Given the description of an element on the screen output the (x, y) to click on. 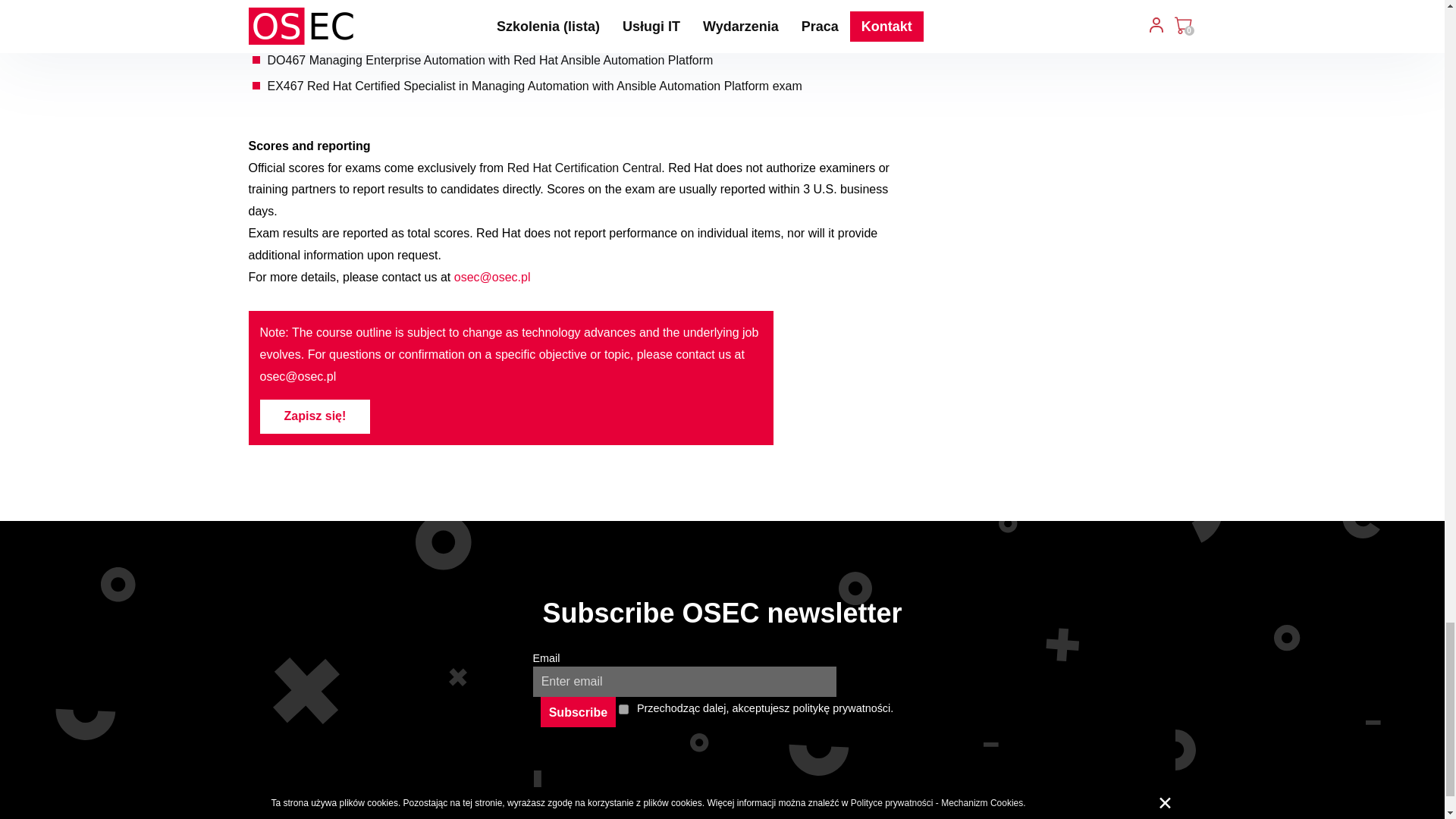
Red Hat Certification Central (584, 167)
Subscribe (577, 711)
on (623, 709)
